Given the description of an element on the screen output the (x, y) to click on. 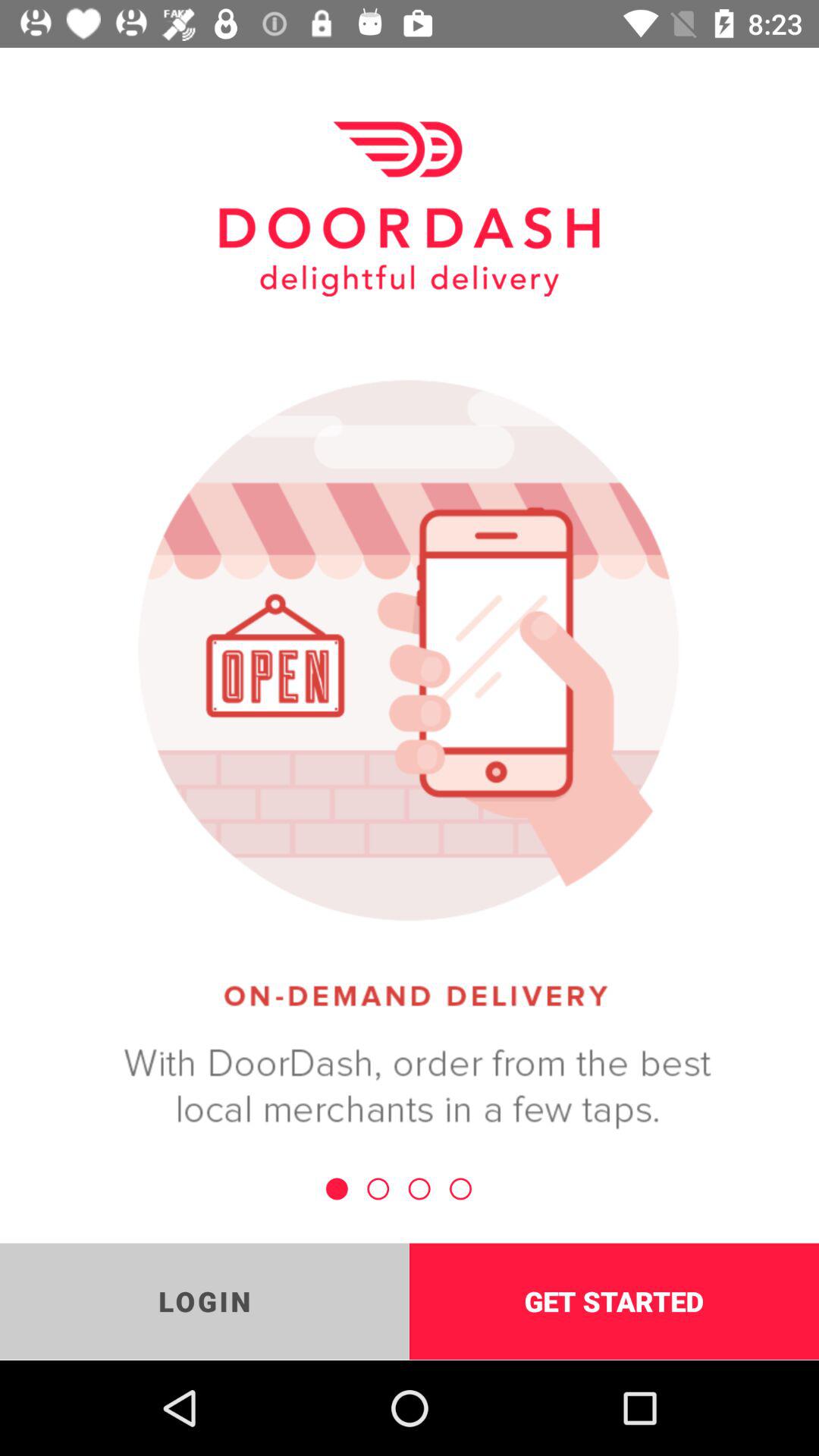
turn off the icon to the right of the login icon (614, 1301)
